Given the description of an element on the screen output the (x, y) to click on. 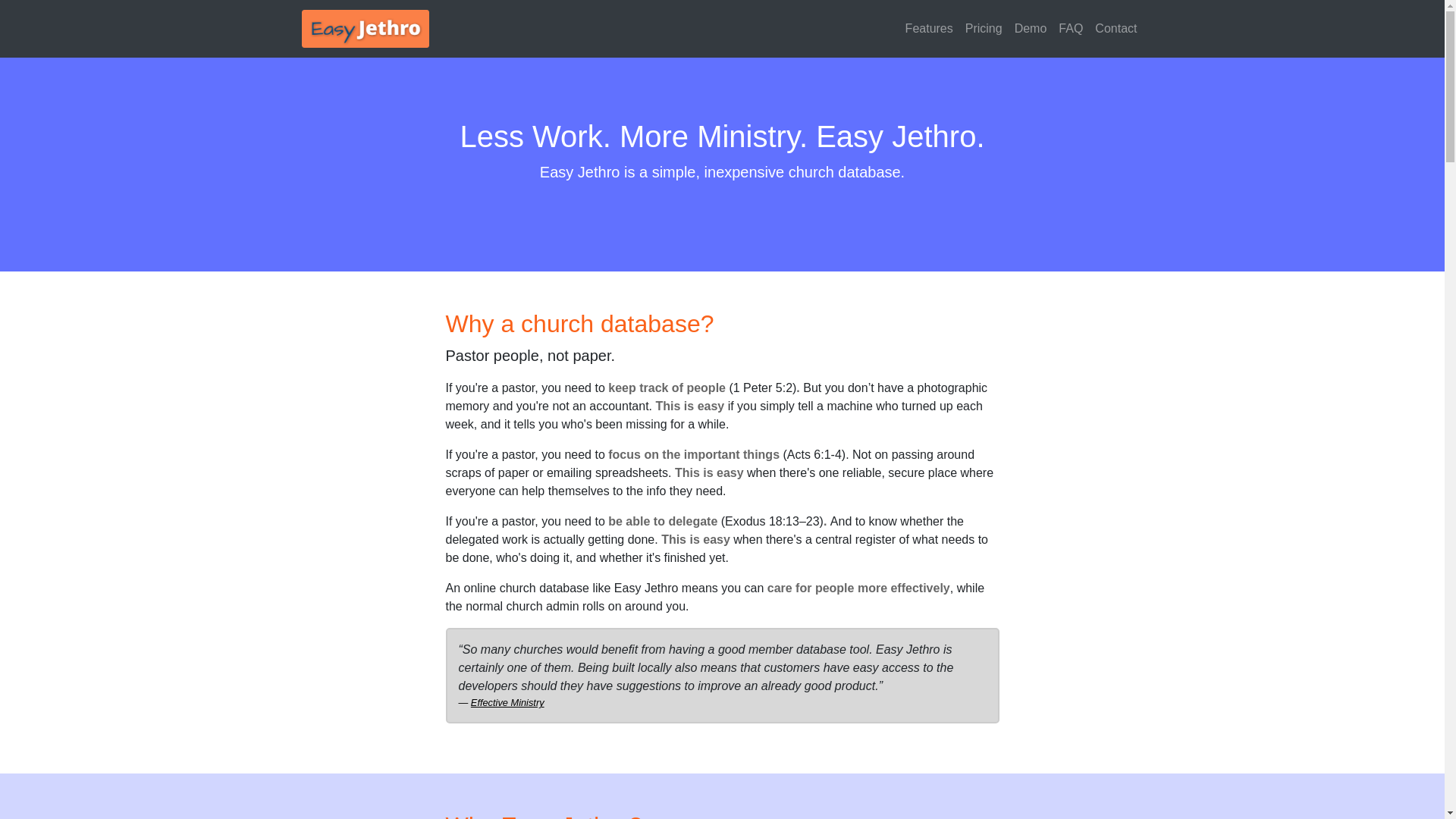
Features Element type: text (929, 28)
Effective Ministry Element type: text (507, 702)
FAQ Element type: text (1070, 28)
Demo Element type: text (1030, 28)
Pricing Element type: text (983, 28)
Contact Element type: text (1115, 28)
